Given the description of an element on the screen output the (x, y) to click on. 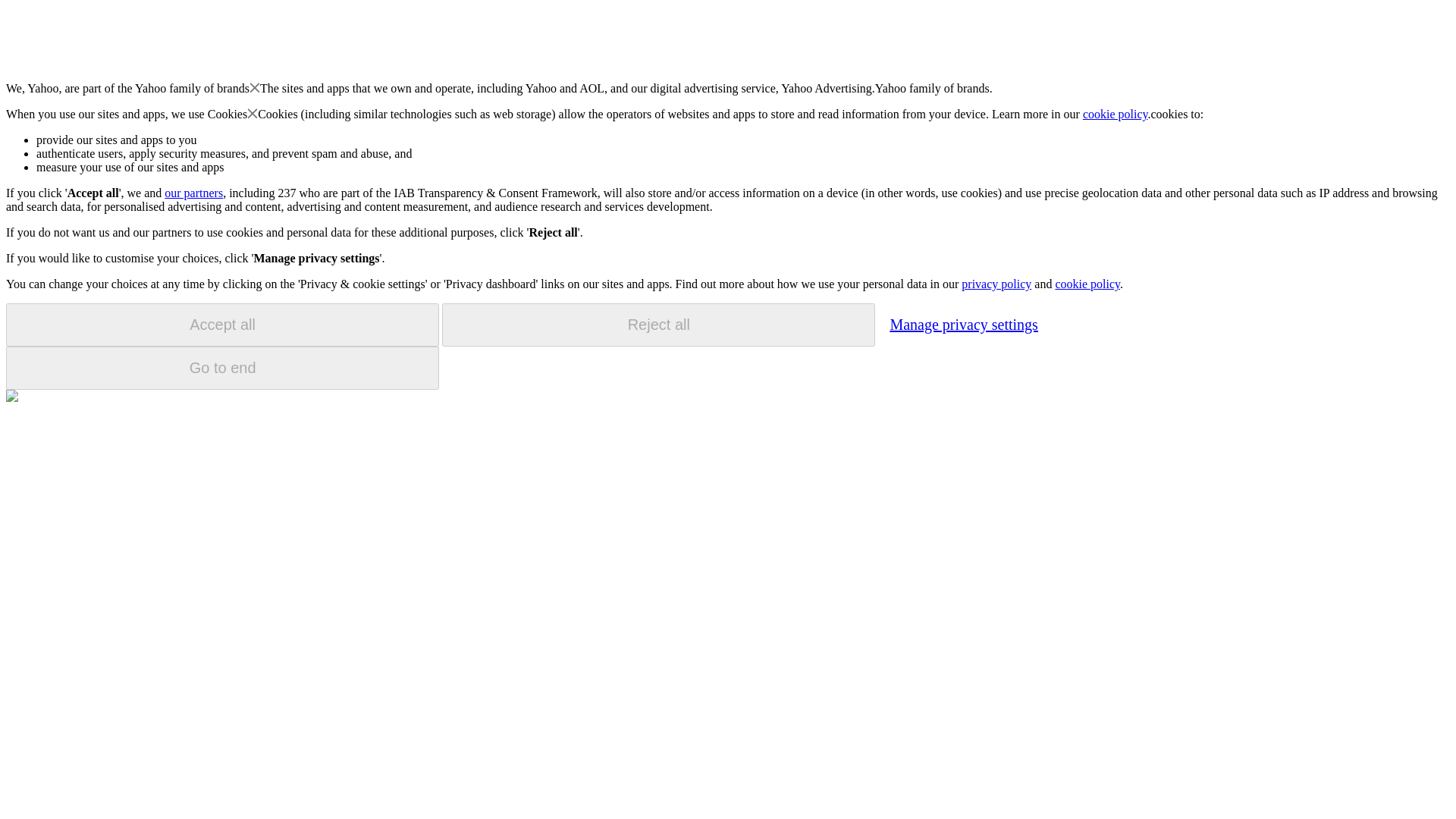
our partners (193, 192)
cookie policy (1086, 283)
Reject all (658, 324)
cookie policy (1115, 113)
Go to end (222, 367)
privacy policy (995, 283)
Manage privacy settings (963, 323)
Accept all (222, 324)
